Given the description of an element on the screen output the (x, y) to click on. 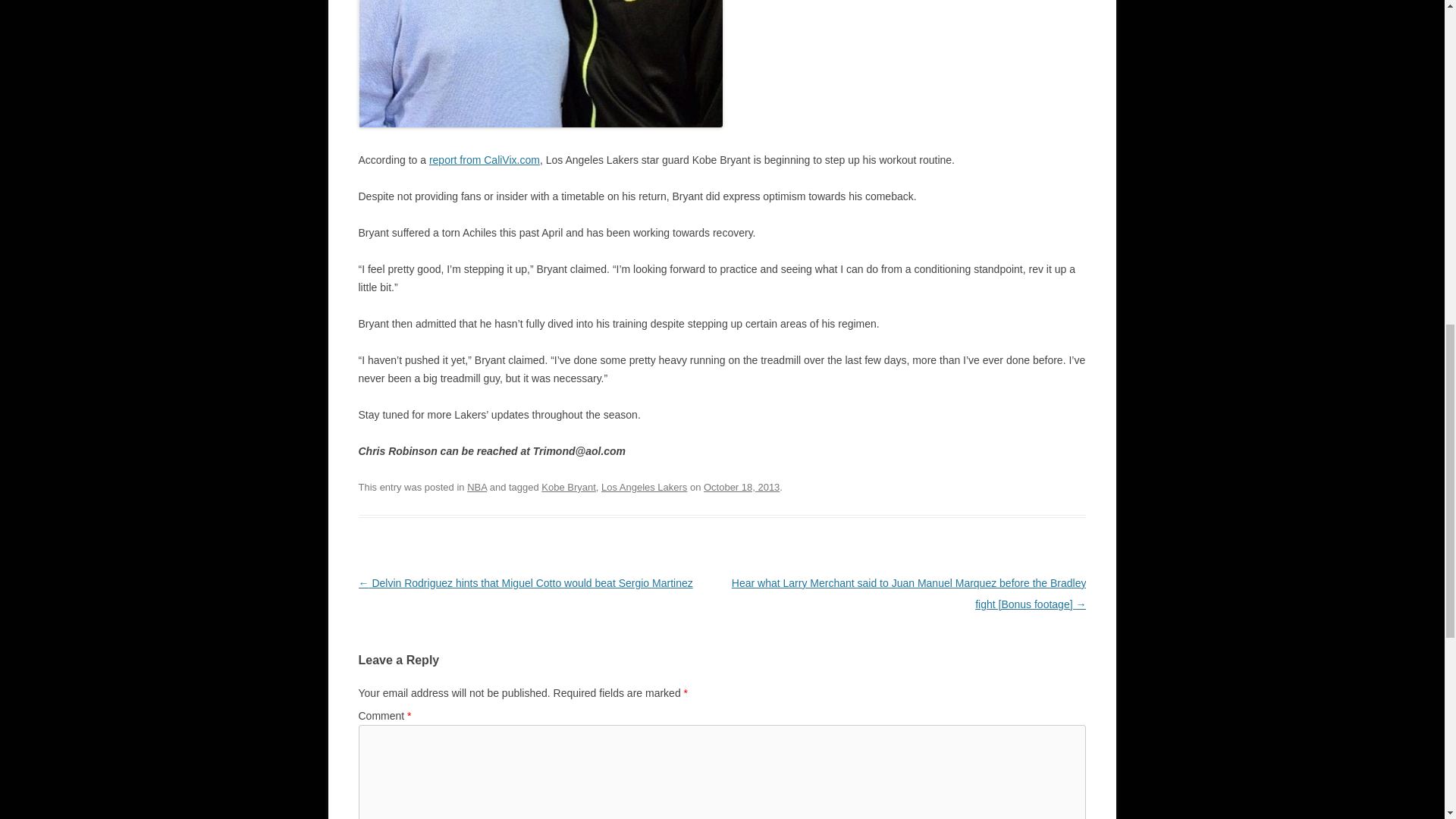
NBA (476, 487)
report from CaliVix.com (484, 159)
October 18, 2013 (740, 487)
Los Angeles Lakers (644, 487)
12:36 (740, 487)
Kobe Bryant (568, 487)
